Given the description of an element on the screen output the (x, y) to click on. 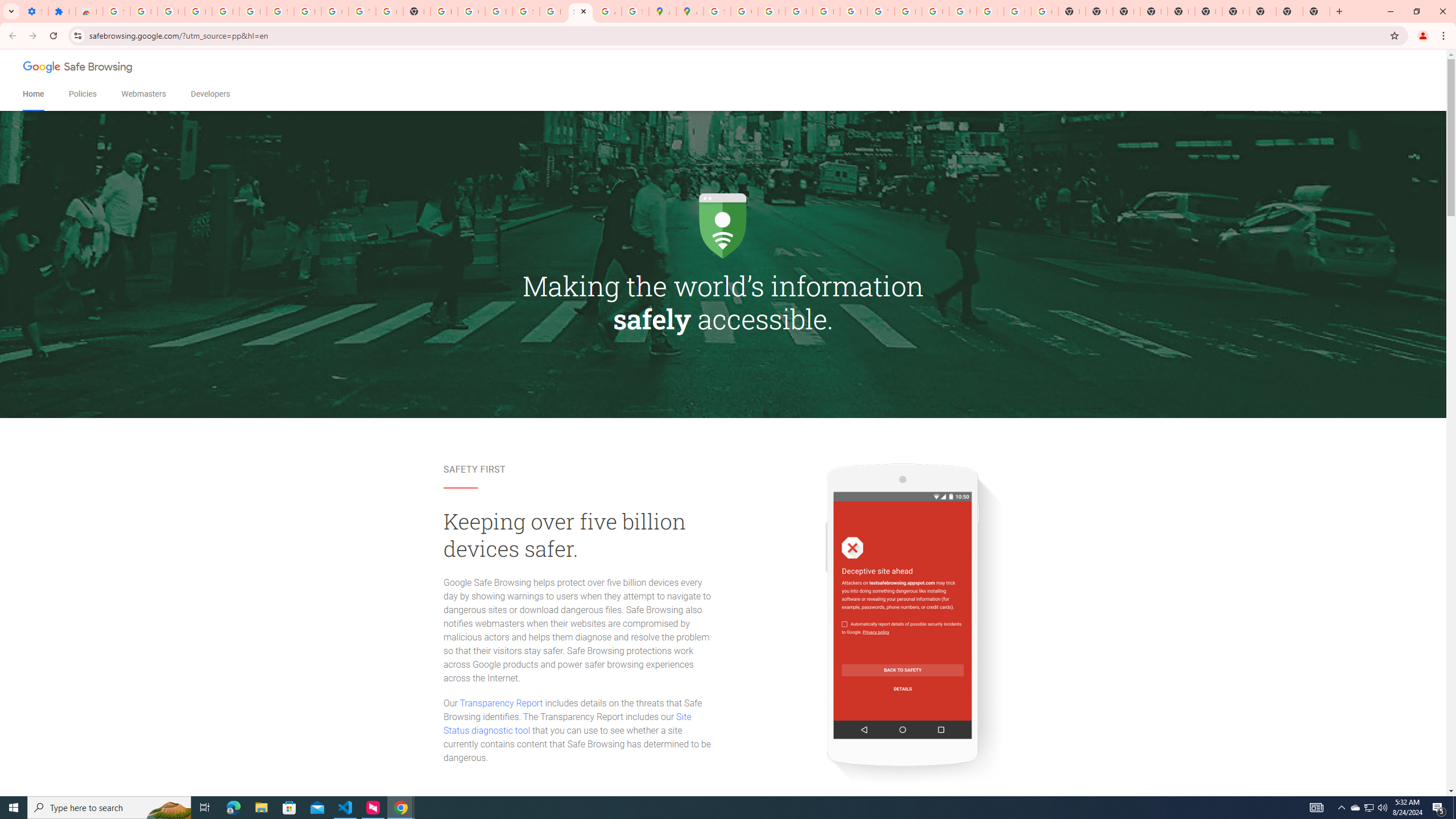
Site Status diagnostic tool (566, 723)
Reviews: Helix Fruit Jump Arcade Game (88, 11)
https://scholar.google.com/ (444, 11)
Google Images (1044, 11)
Google Account (334, 11)
Privacy Help Center - Policies Help (771, 11)
YouTube (880, 11)
Sign in - Google Accounts (116, 11)
